Given the description of an element on the screen output the (x, y) to click on. 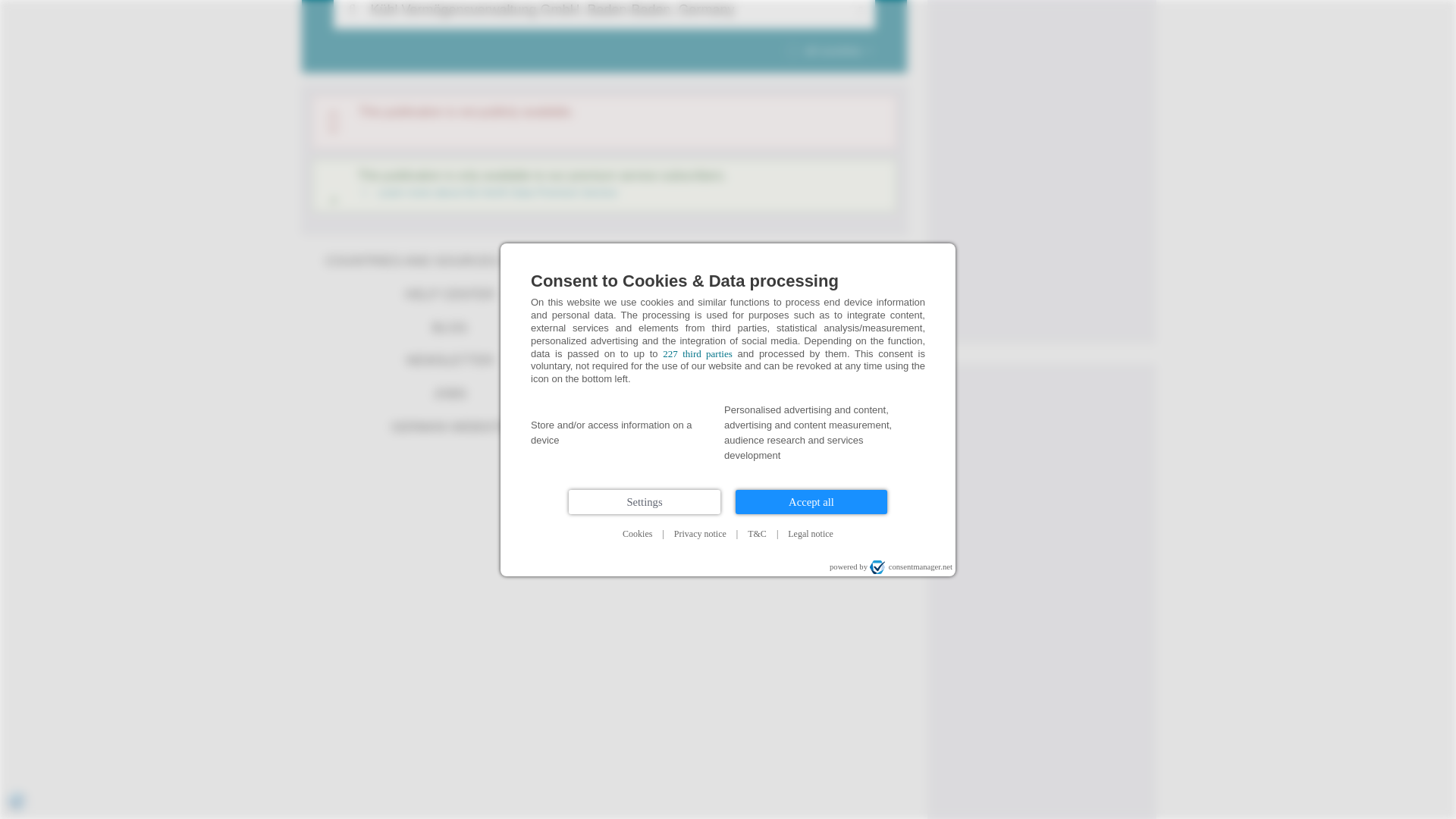
227 third parties (697, 118)
Privacy notice (699, 298)
GERMAN WEBSITE (449, 426)
BLOG (449, 327)
Privacy settings (17, 566)
NEWSLETTER (449, 360)
Cookies (636, 298)
Settings (644, 266)
Search (351, 13)
ABOUT US (758, 295)
consentmanager.net (910, 331)
Purpose (727, 198)
CONTACT (758, 261)
Learn more about the North Data Premium Service (487, 192)
Legal notice (810, 298)
